Given the description of an element on the screen output the (x, y) to click on. 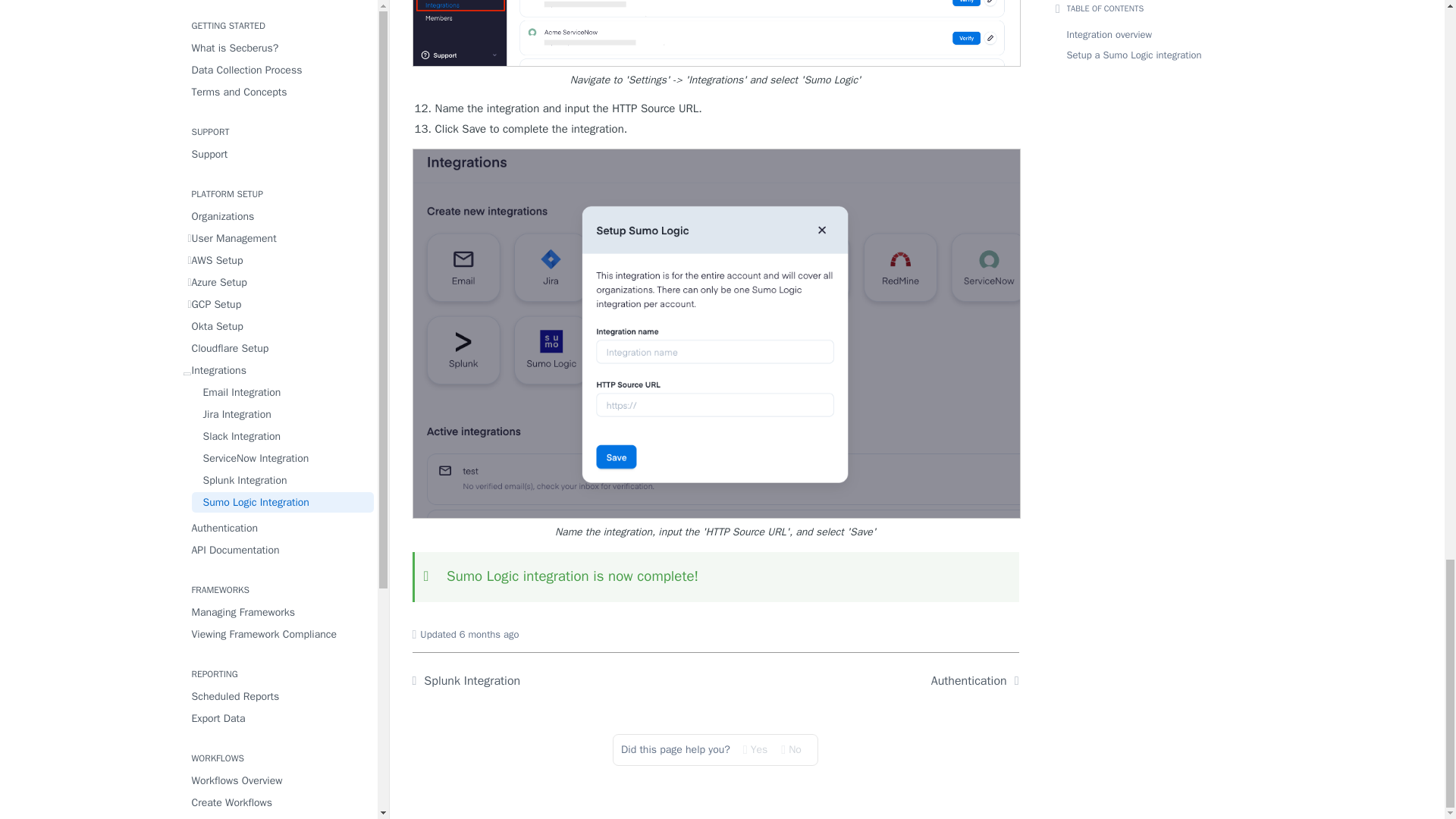
secberus integrations.png (716, 33)
